Given the description of an element on the screen output the (x, y) to click on. 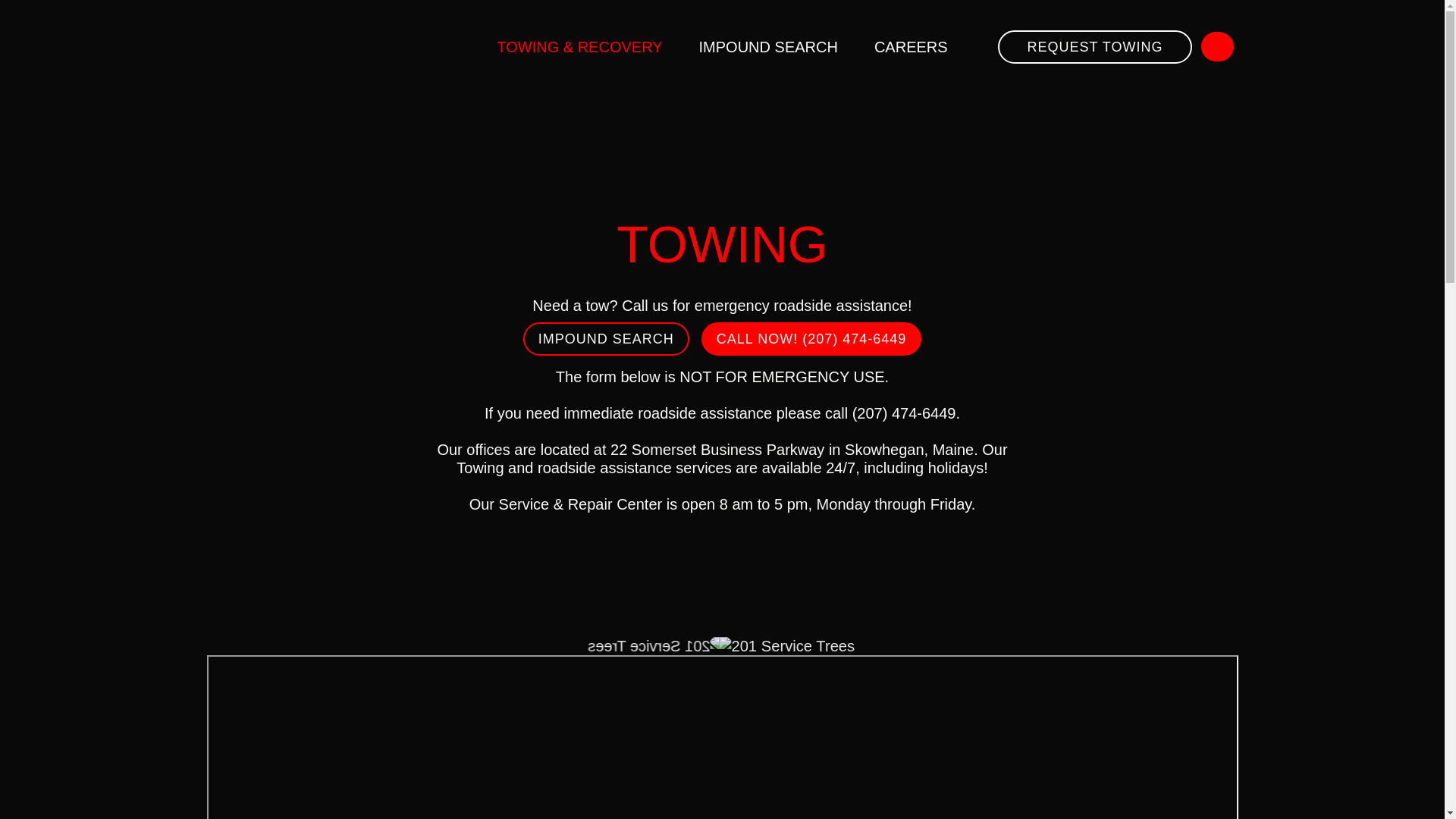
TOWING & RECOVERY Element type: text (579, 46)
IMPOUND SEARCH Element type: text (768, 46)
CALL NOW! (207) 474-6449 Element type: text (811, 338)
(207) 474-6449 Element type: text (904, 412)
REQUEST TOWING Element type: text (1094, 46)
IMPOUND SEARCH Element type: text (606, 338)
CAREERS Element type: text (911, 46)
